Given the description of an element on the screen output the (x, y) to click on. 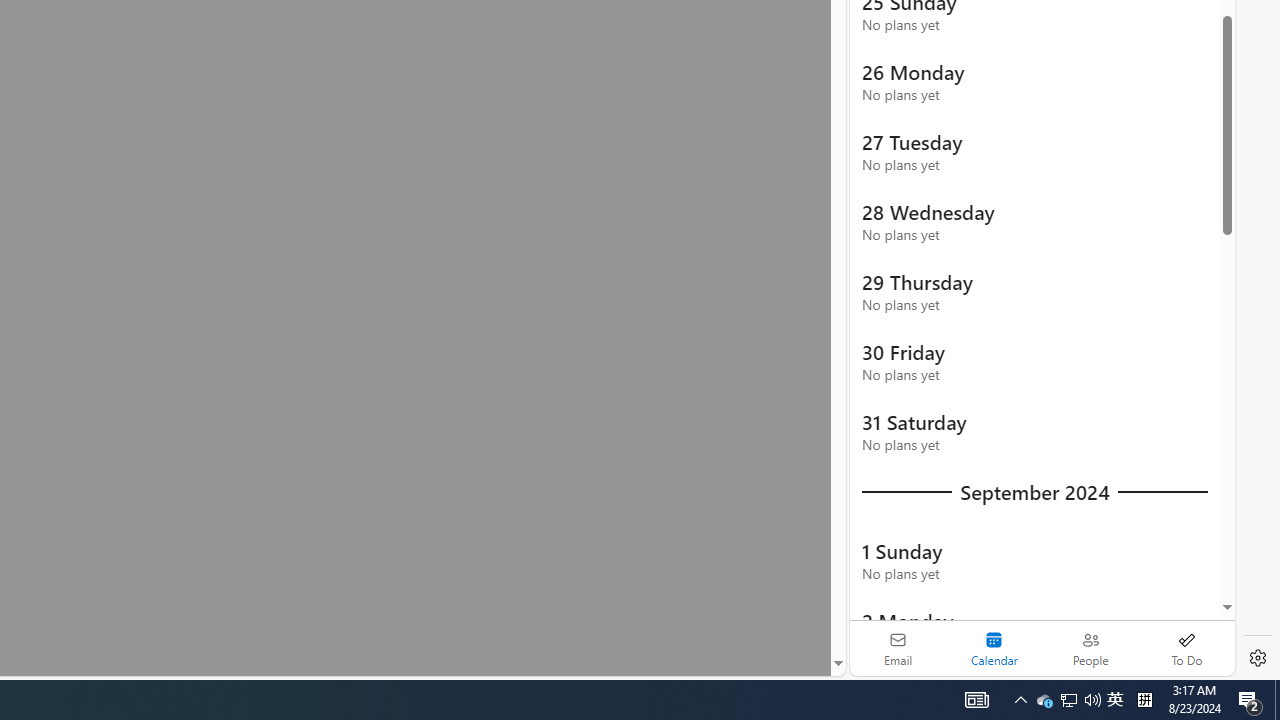
To Do (1186, 648)
People (1090, 648)
Email (898, 648)
Selected calendar module. Date today is 22 (994, 648)
